Given the description of an element on the screen output the (x, y) to click on. 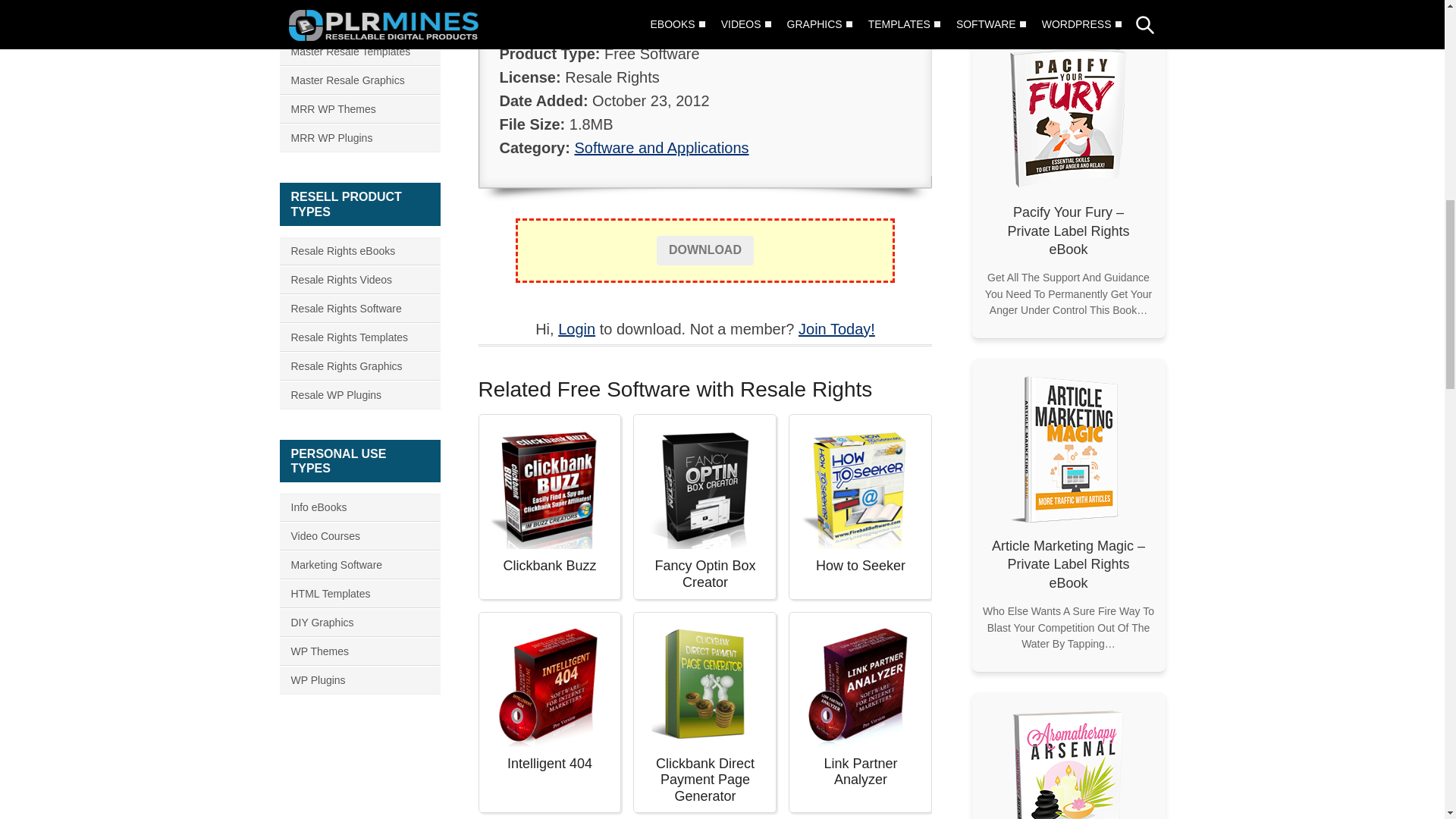
Fancy Optin Box Creator (705, 485)
Clickbank Buzz (549, 485)
Download (705, 249)
How to Seeker (859, 485)
Clickbank Direct Payment Page Generator (705, 682)
Link Partner Analyzer (859, 682)
Intelligent 404 (549, 682)
